Given the description of an element on the screen output the (x, y) to click on. 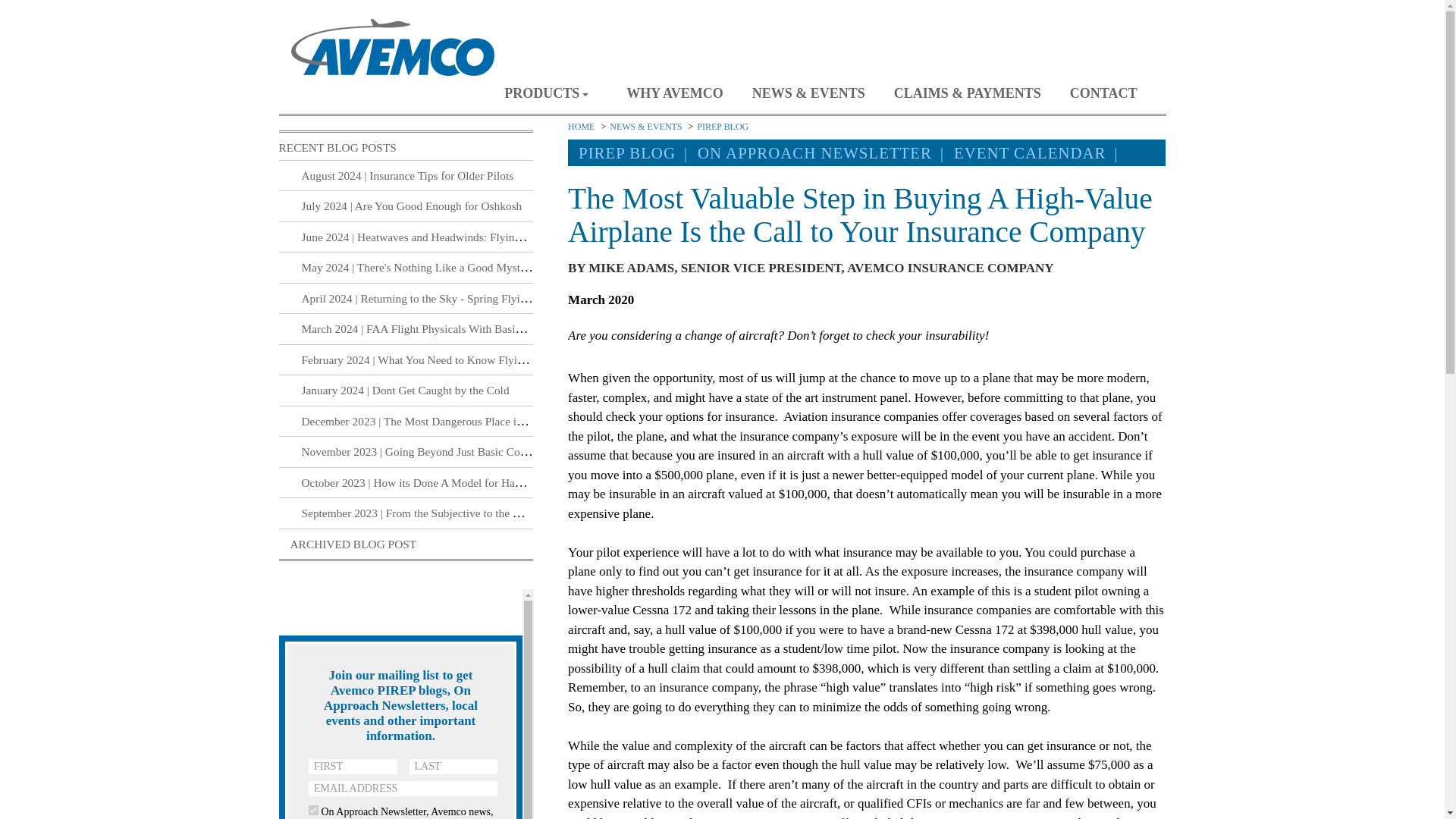
Avemco (392, 47)
WHY AVEMCO (675, 93)
Manage Policy (968, 93)
Why Avemco (675, 93)
PRODUCTS (551, 93)
Products (551, 93)
Avemco Logo (392, 49)
Contact (1105, 93)
ARCHIVED BLOG POST (352, 543)
News Events (809, 93)
